Given the description of an element on the screen output the (x, y) to click on. 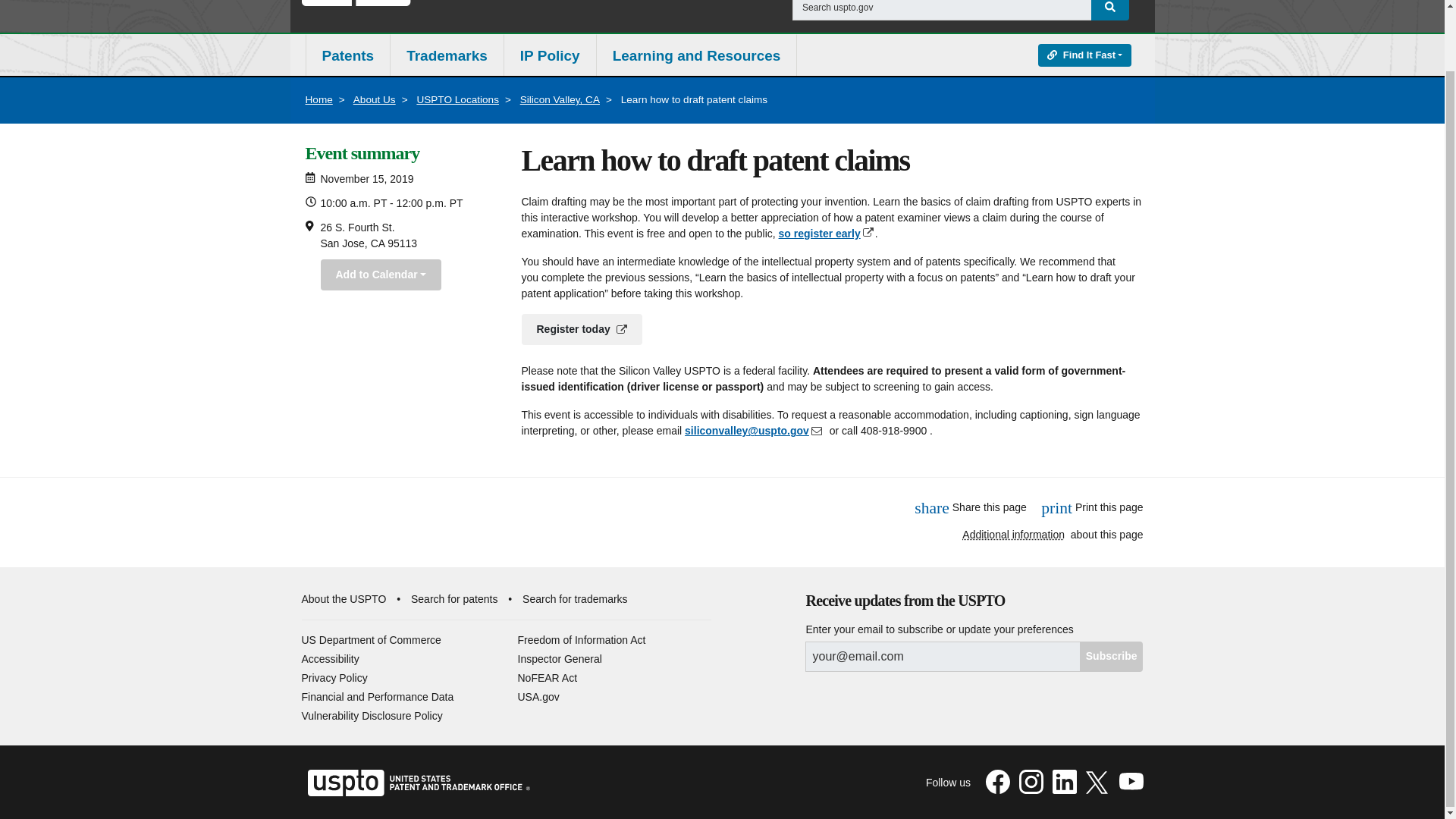
Patents (347, 55)
USPTO - United States Patent and Trademark Office (459, 5)
Search uspto.gov (942, 10)
Trademarks (446, 55)
Search (1109, 10)
